Given the description of an element on the screen output the (x, y) to click on. 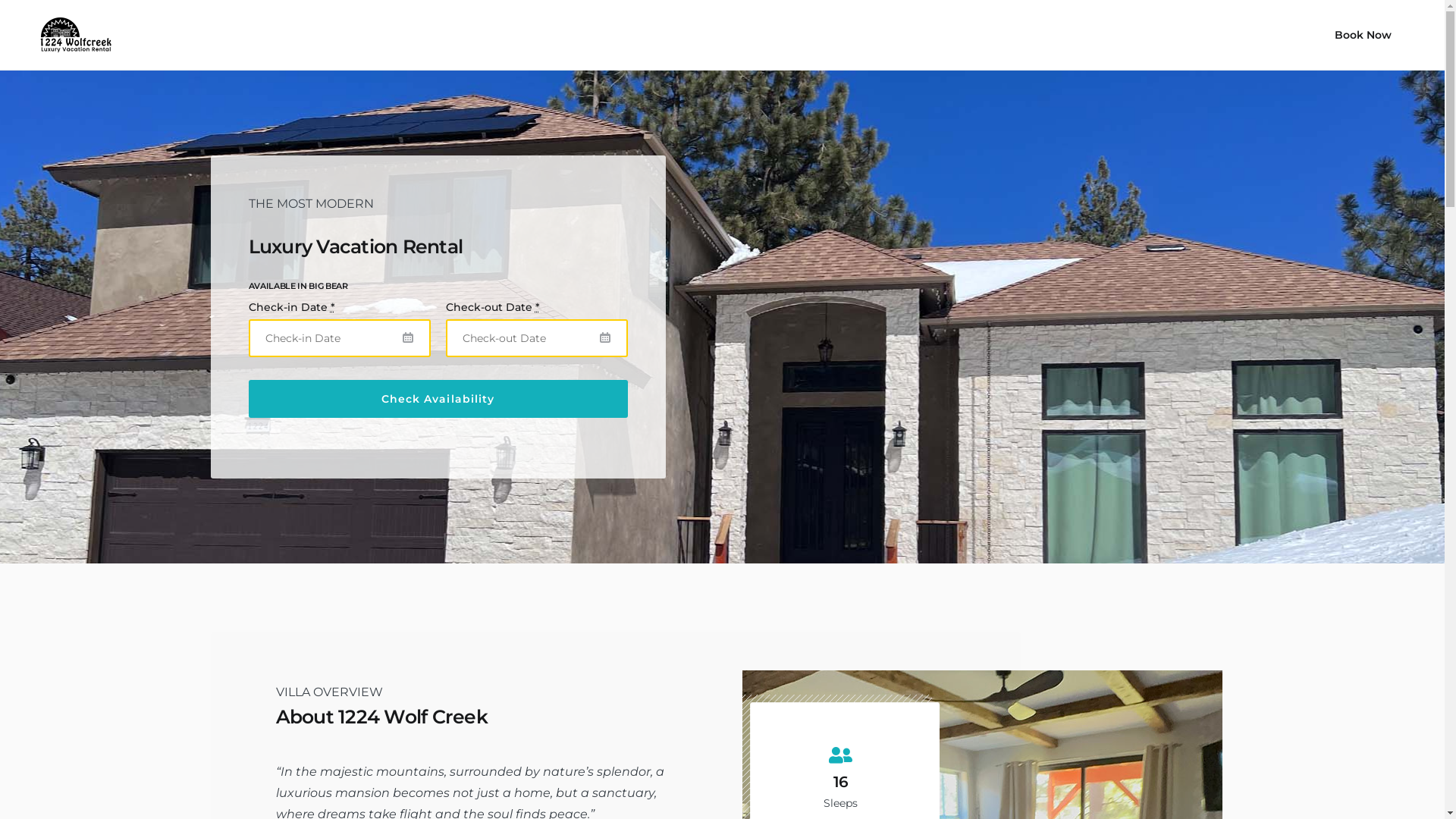
Book Now Element type: text (1362, 34)
1224 Wolf Creek Element type: text (70, 34)
Check Availability Element type: text (437, 398)
